Given the description of an element on the screen output the (x, y) to click on. 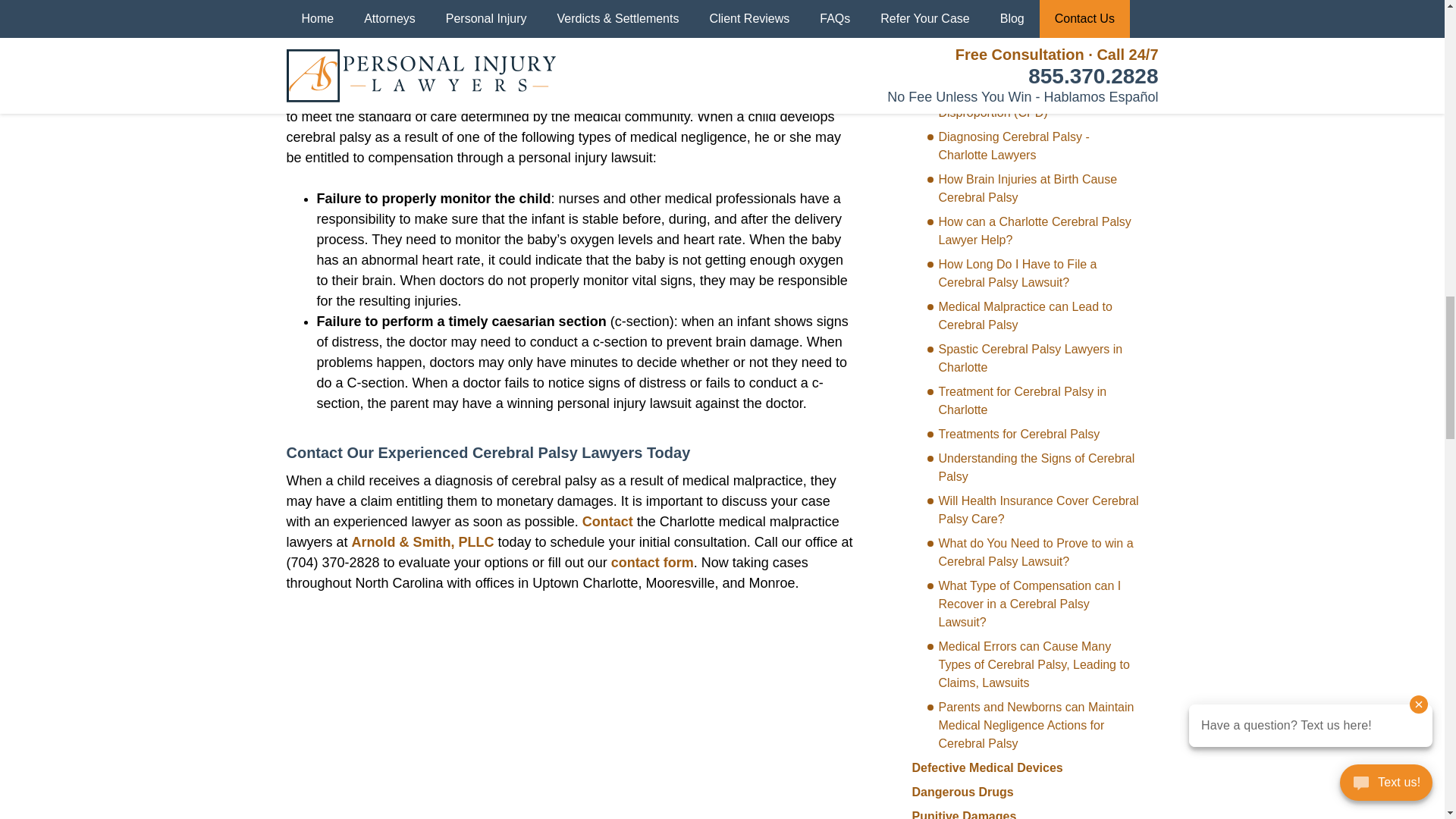
contact form (652, 562)
Contact (607, 521)
